Given the description of an element on the screen output the (x, y) to click on. 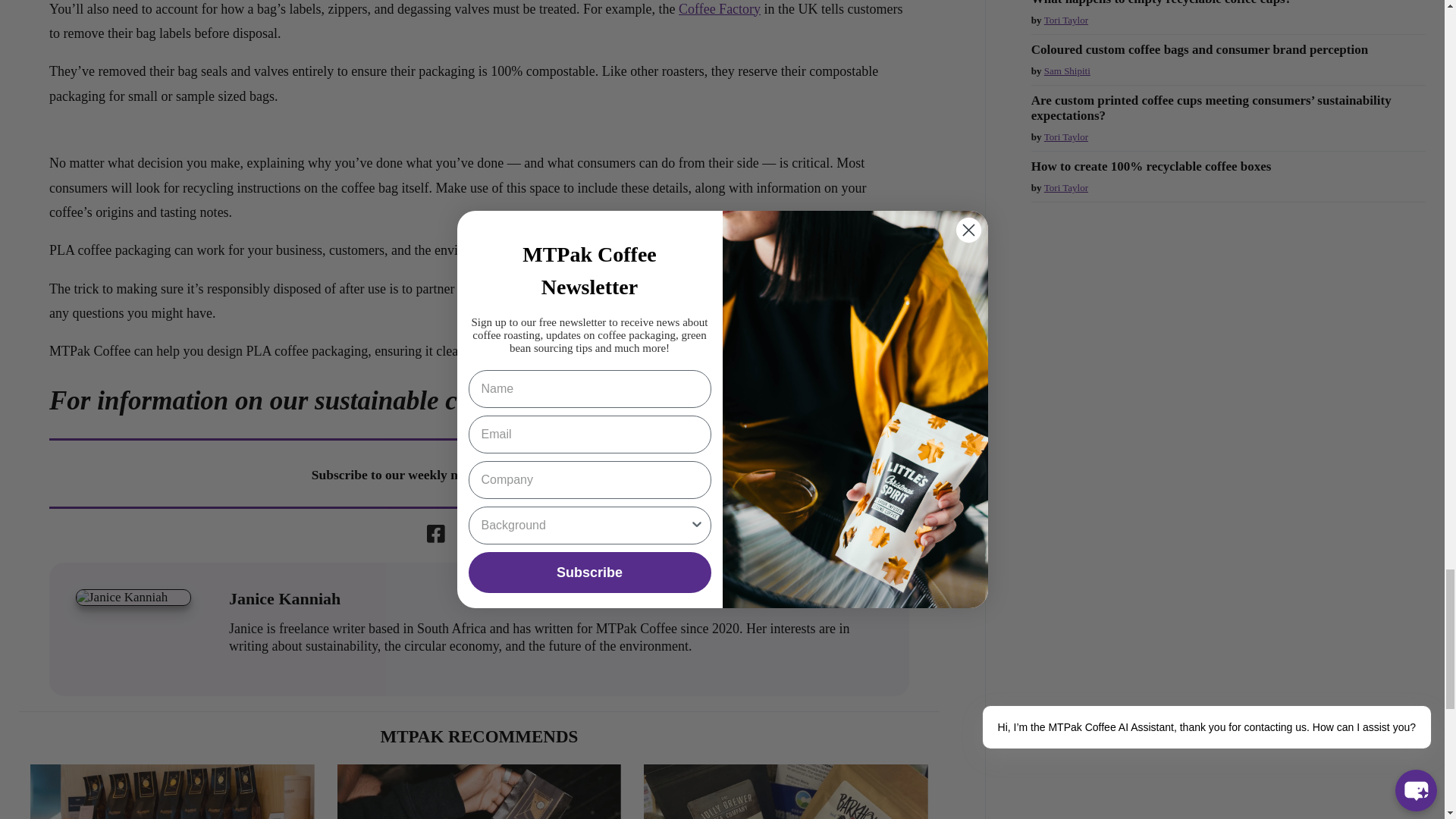
How can consumers dispose of recyclable PLA coffee bags? (172, 791)
How to dispose of kraft paper tin tie coffee bags (785, 791)
